Given the description of an element on the screen output the (x, y) to click on. 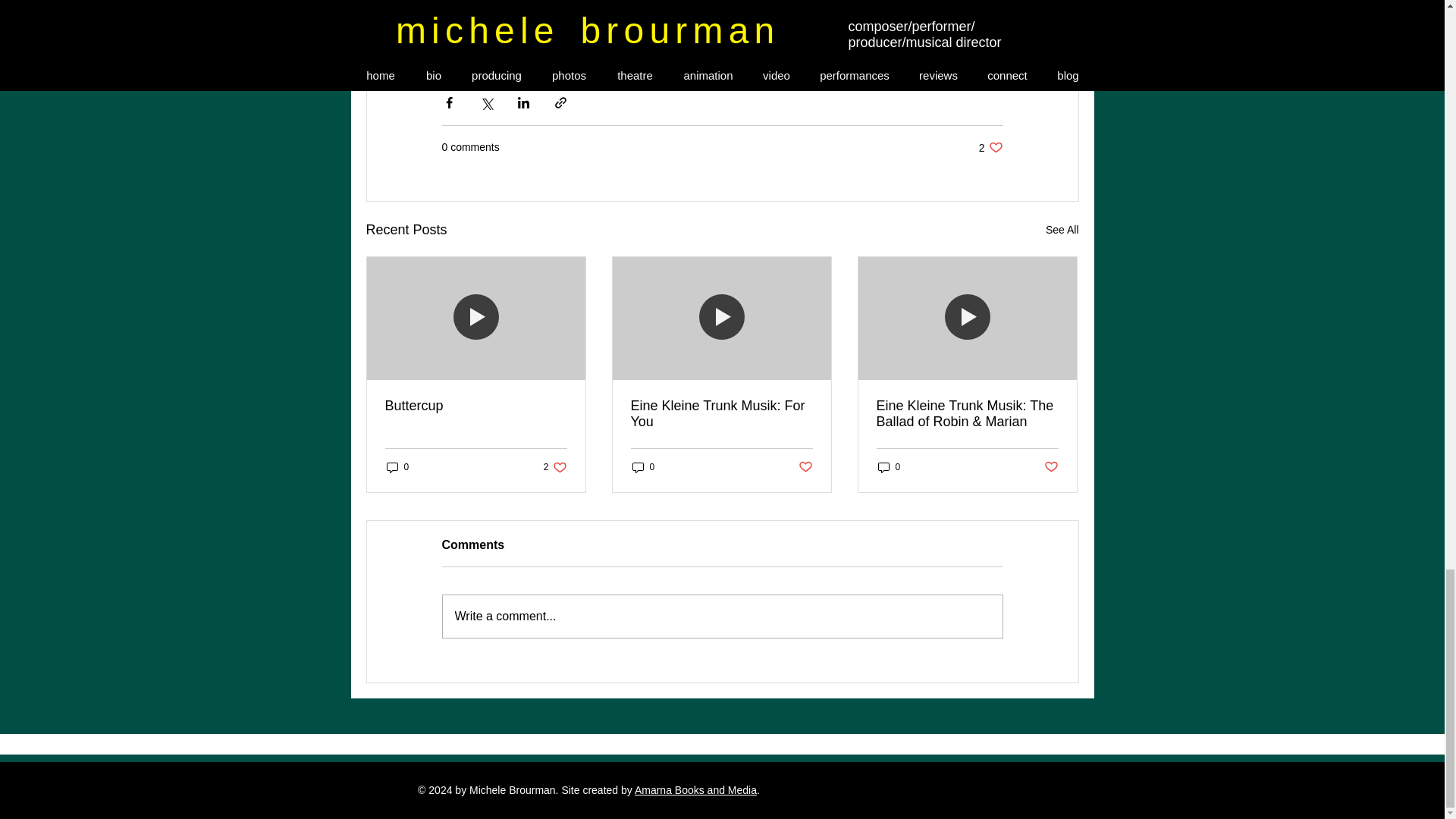
0 (643, 467)
0 (889, 467)
Buttercup (476, 406)
Post not marked as liked (804, 467)
See All (1061, 229)
Eine Kleine Trunk Musik: For You (721, 413)
0 (555, 467)
Post not marked as liked (990, 147)
